Given the description of an element on the screen output the (x, y) to click on. 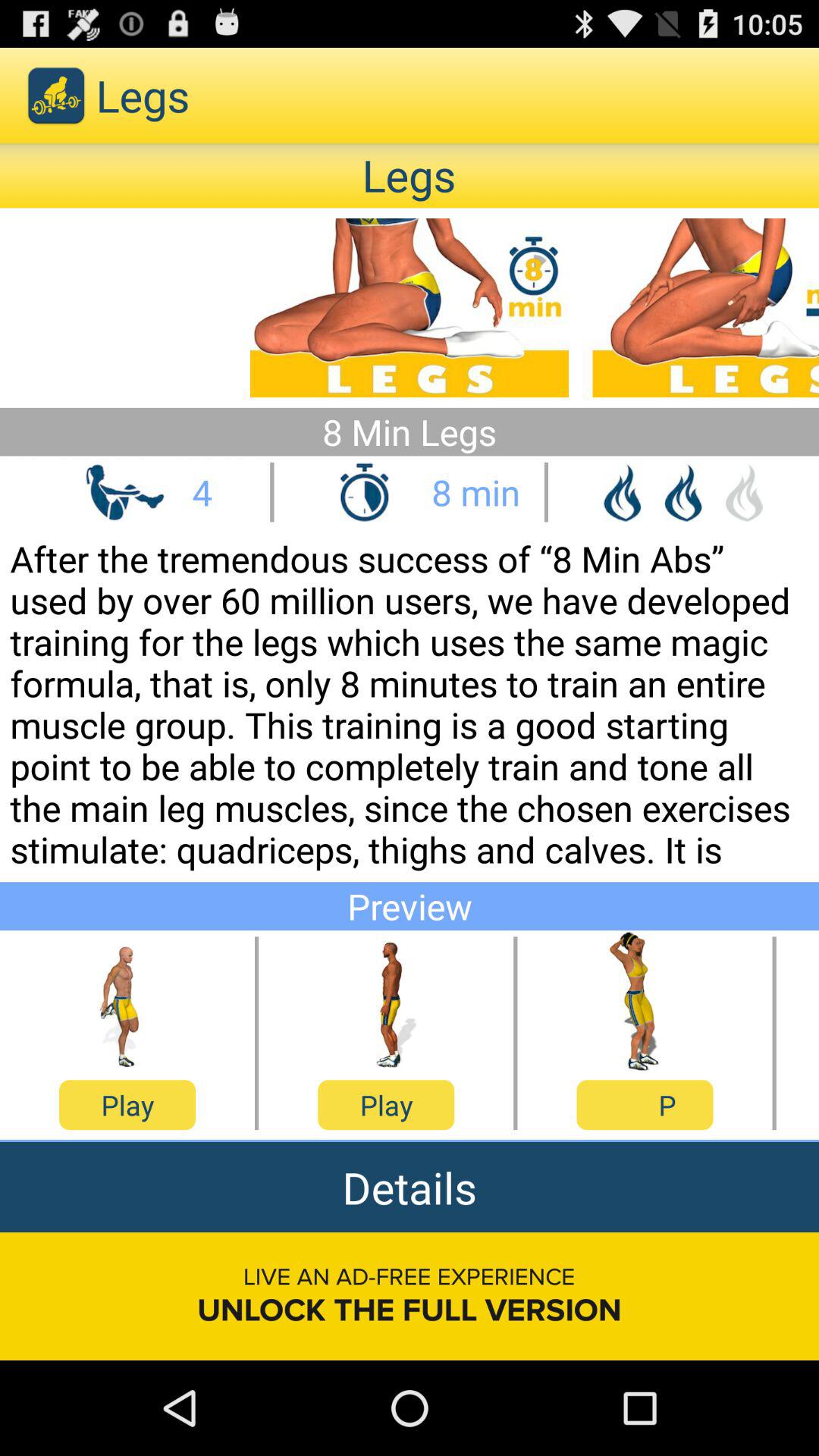
select the third  calory burn symbol (743, 492)
